Given the description of an element on the screen output the (x, y) to click on. 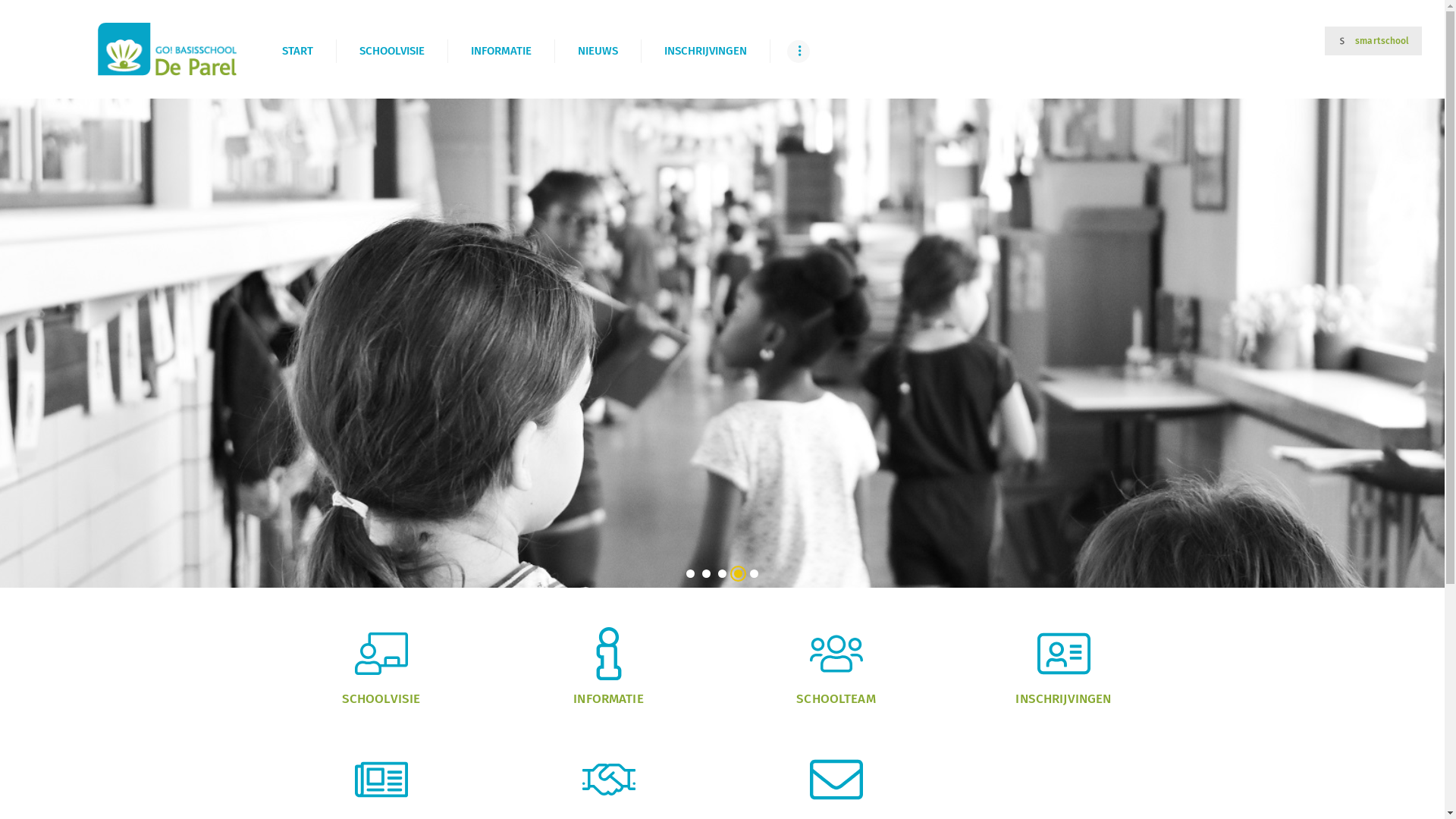
START Element type: text (297, 50)
INSCHRIJVINGEN Element type: text (704, 50)
smartschool Element type: text (1372, 40)
INFORMATIE Element type: text (500, 50)
NIEUWS Element type: text (597, 50)
SCHOOLVISIE Element type: text (391, 50)
